Given the description of an element on the screen output the (x, y) to click on. 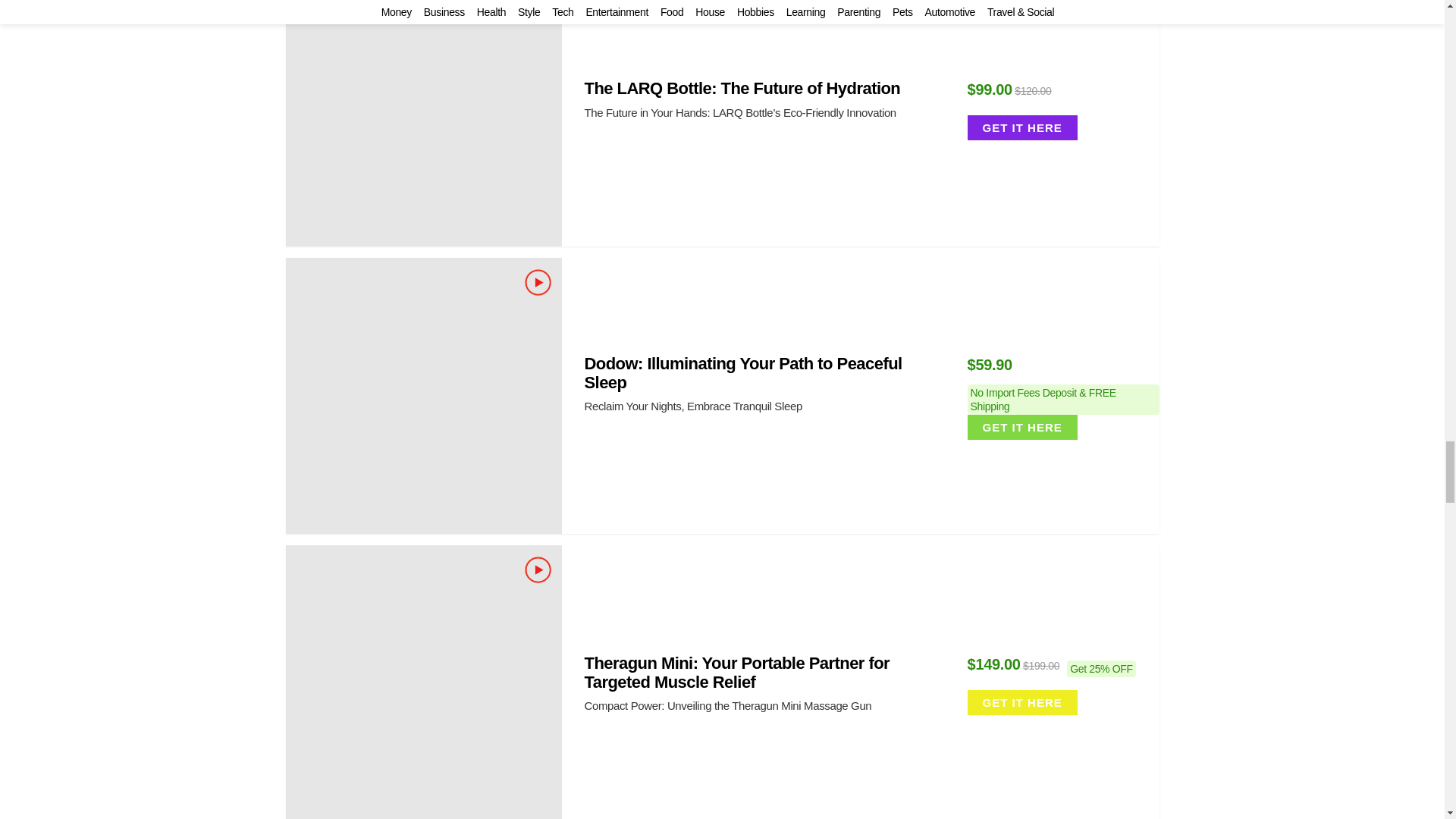
Dodow: Illuminating Your Path to Peaceful Sleep (422, 395)
The LARQ Bottle: The Future of Hydration (422, 123)
